Given the description of an element on the screen output the (x, y) to click on. 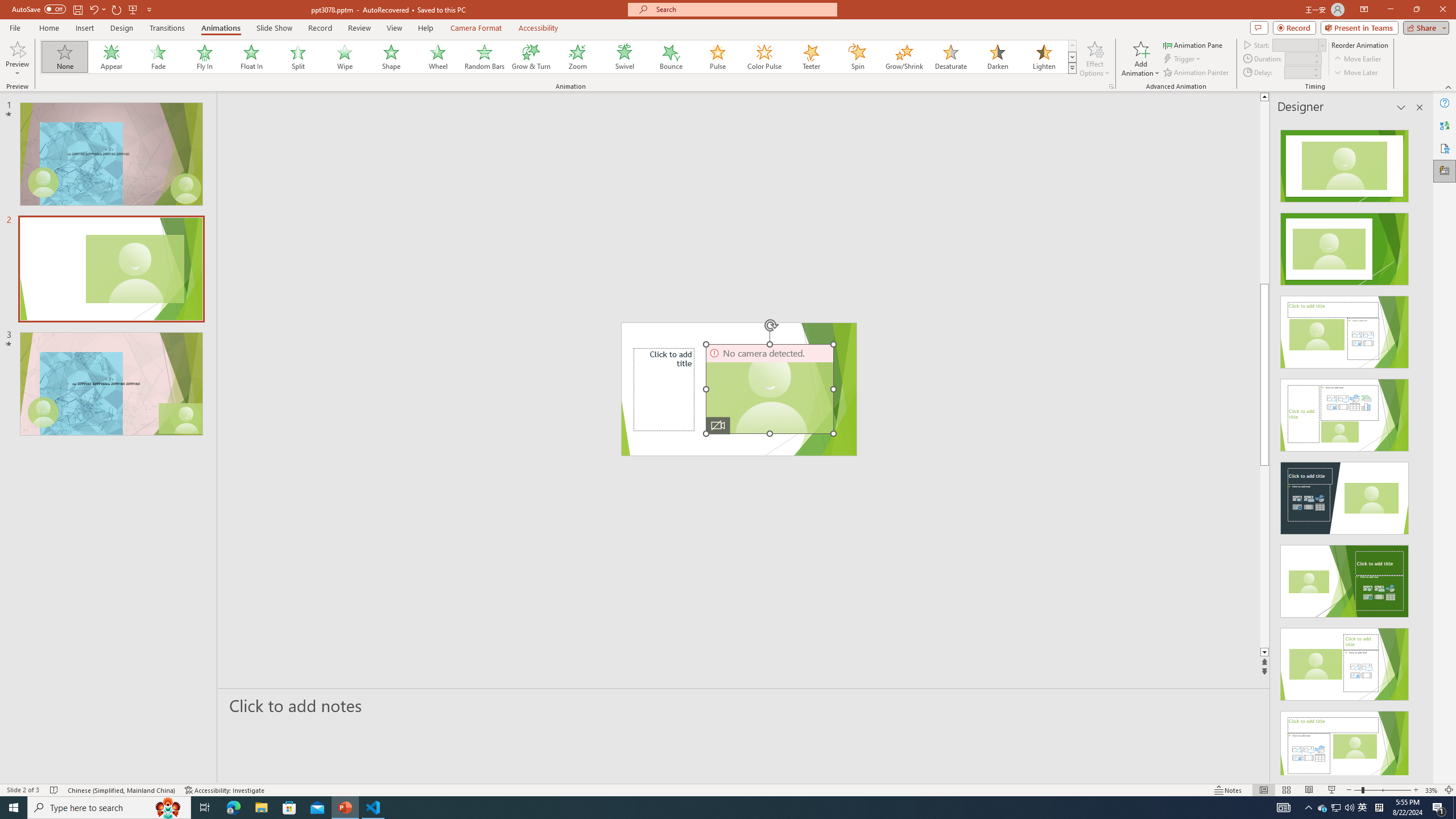
None (65, 56)
Move Earlier (1357, 58)
Effect Options (1094, 58)
Float In (251, 56)
